Given the description of an element on the screen output the (x, y) to click on. 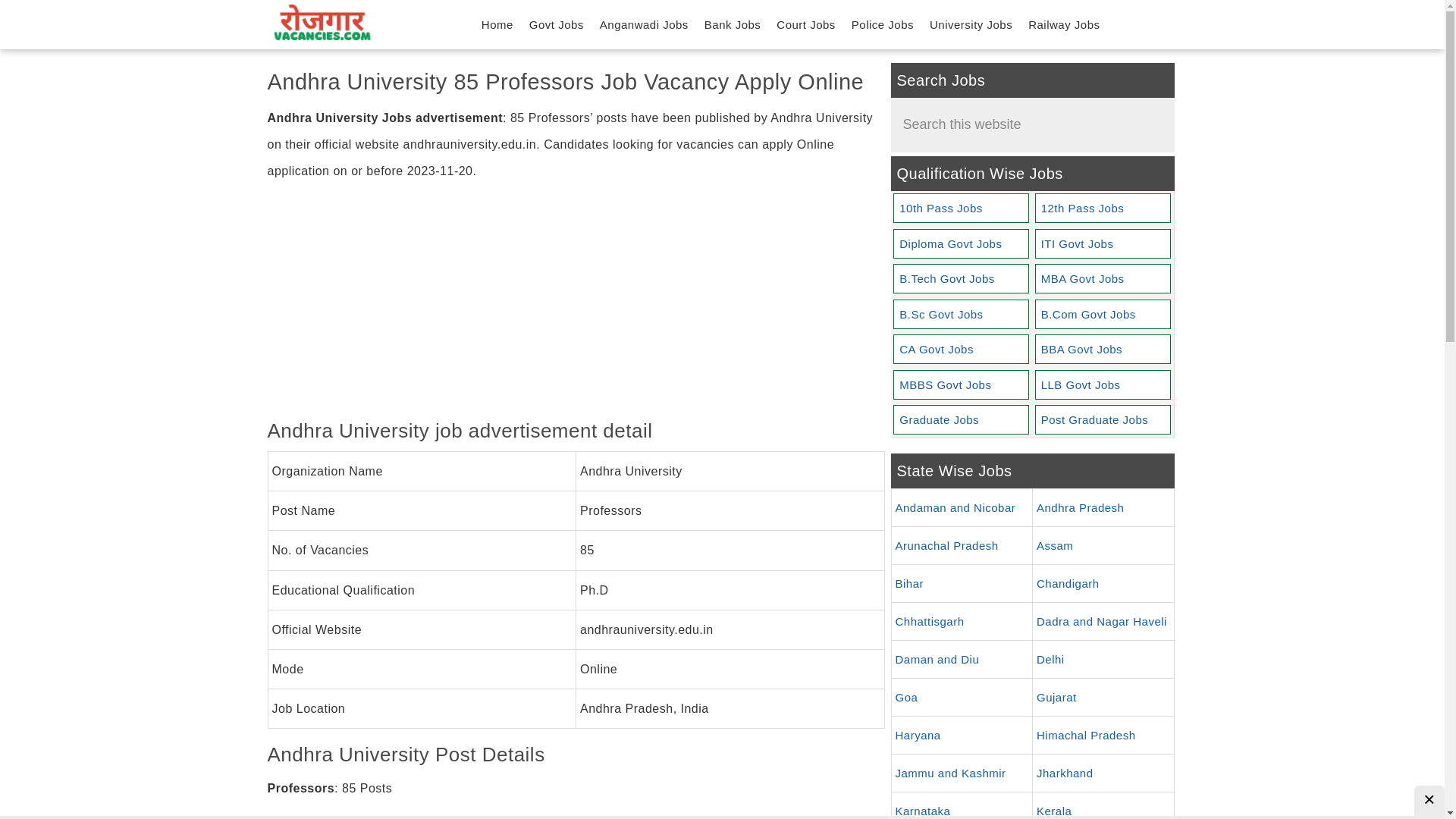
Delhi (1103, 659)
Diploma Govt Jobs (960, 243)
Bihar (961, 583)
Advertisement (574, 304)
Rojgar Vacancies (320, 22)
12th Pass Jobs (1102, 207)
Bank Jobs (732, 24)
Police Jobs (882, 24)
Chhattisgarh (961, 621)
Chandigarh (1103, 583)
Govt Jobs (555, 24)
Dadra and Nagar Haveli (1103, 621)
B.Com Govt Jobs (1102, 314)
LLB Govt Jobs (1102, 384)
